Given the description of an element on the screen output the (x, y) to click on. 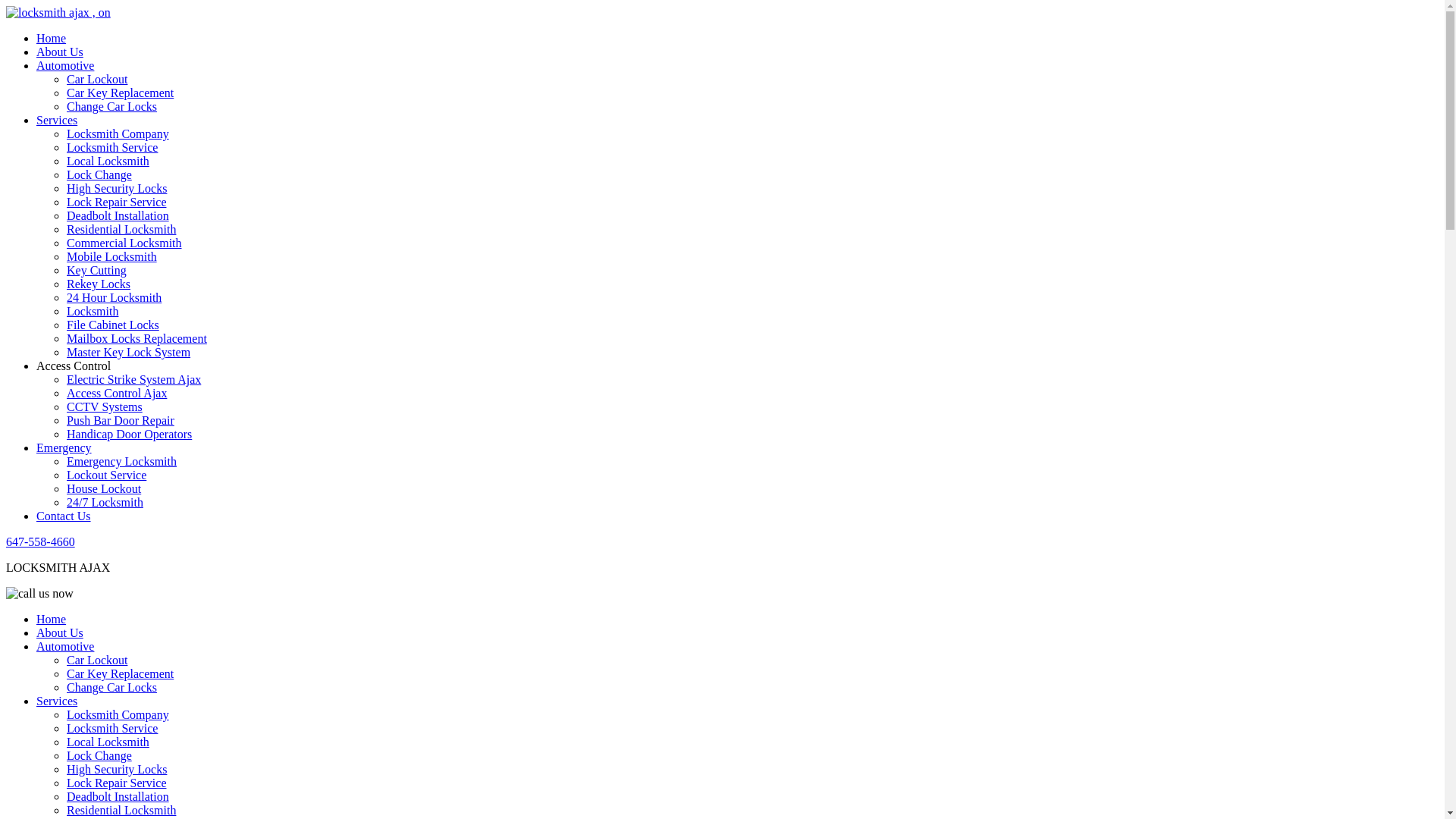
High Security Locks Element type: text (116, 188)
Local Locksmith Element type: text (107, 741)
High Security Locks Element type: text (116, 768)
Locksmith Company Element type: text (117, 714)
About Us Element type: text (59, 632)
Services Element type: text (56, 119)
Push Bar Door Repair Element type: text (120, 420)
Lock Change Element type: text (98, 174)
About Us Element type: text (59, 51)
Locksmith Service Element type: text (111, 727)
Access Control Ajax Element type: text (116, 392)
Emergency Locksmith Element type: text (121, 461)
Change Car Locks Element type: text (111, 106)
Mailbox Locks Replacement Element type: text (136, 338)
Deadbolt Installation Element type: text (117, 215)
House Lockout Element type: text (103, 488)
Locksmith Service Element type: text (111, 147)
Services Element type: text (56, 700)
Automotive Element type: text (65, 646)
Deadbolt Installation Element type: text (117, 796)
Contact Us Element type: text (63, 515)
Emergency Element type: text (63, 447)
Access Control Element type: text (73, 365)
24/7 Locksmith Element type: text (104, 501)
Lock Change Element type: text (98, 755)
Automotive Element type: text (65, 65)
Locksmith Company Element type: text (117, 133)
Car Key Replacement Element type: text (119, 673)
Lock Repair Service Element type: text (116, 201)
Master Key Lock System Element type: text (128, 351)
Lockout Service Element type: text (106, 474)
Car Key Replacement Element type: text (119, 92)
Lock Repair Service Element type: text (116, 782)
Key Cutting Element type: text (96, 269)
Car Lockout Element type: text (96, 78)
Locksmith Element type: text (92, 310)
Rekey Locks Element type: text (98, 283)
CCTV Systems Element type: text (104, 406)
Commercial Locksmith Element type: text (124, 242)
Home Element type: text (50, 37)
24 Hour Locksmith Element type: text (113, 297)
Residential Locksmith Element type: text (120, 228)
File Cabinet Locks Element type: text (112, 324)
Residential Locksmith Element type: text (120, 809)
Car Lockout Element type: text (96, 659)
Change Car Locks Element type: text (111, 686)
Home Element type: text (50, 618)
Electric Strike System Ajax Element type: text (133, 379)
Handicap Door Operators Element type: text (128, 433)
Local Locksmith Element type: text (107, 160)
Mobile Locksmith Element type: text (111, 256)
647-558-4660 Element type: text (40, 541)
